Given the description of an element on the screen output the (x, y) to click on. 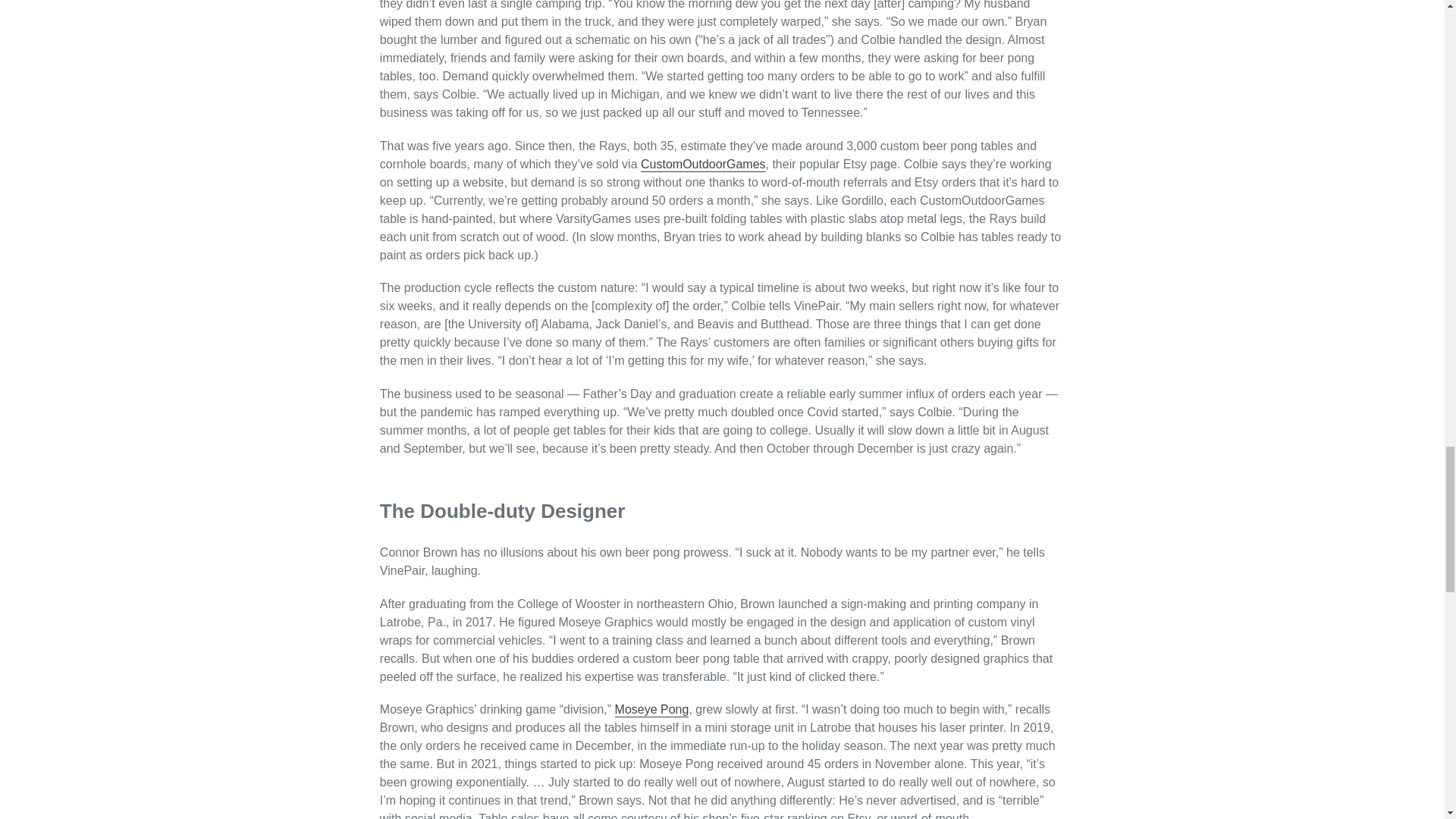
Moseye Pong (651, 709)
CustomOutdoorGames (702, 164)
